Given the description of an element on the screen output the (x, y) to click on. 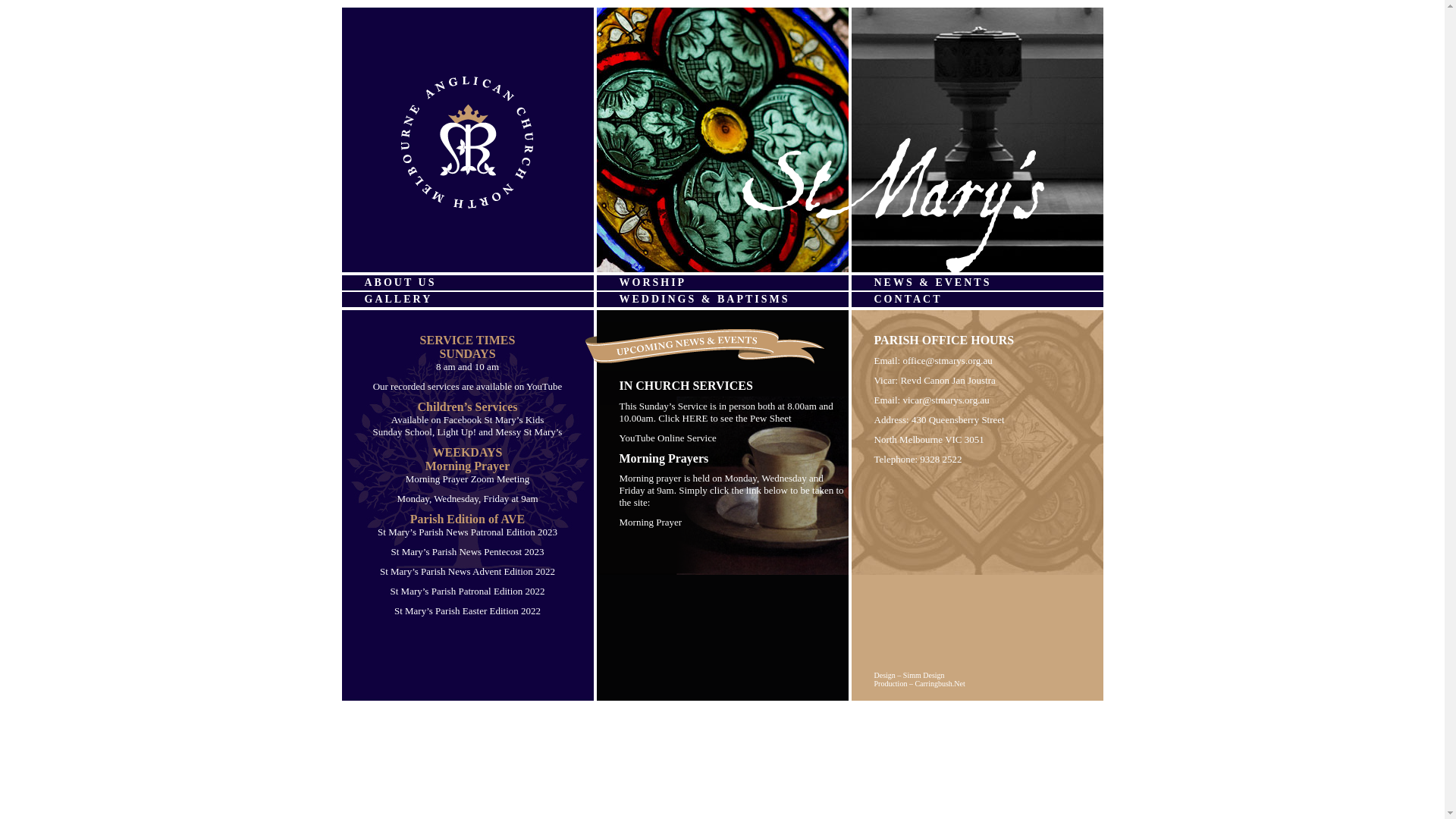
YouTube Online Service Element type: text (666, 437)
Morning Prayer Element type: text (649, 521)
NEWS & EVENTS Element type: text (976, 282)
WEDDINGS & BAPTISMS Element type: text (721, 299)
GALLERY Element type: text (467, 299)
Our recorded services are available on YouTube Element type: text (467, 386)
ABOUT US Element type: text (467, 282)
WORSHIP Element type: text (721, 282)
CONTACT Element type: text (976, 299)
